Given the description of an element on the screen output the (x, y) to click on. 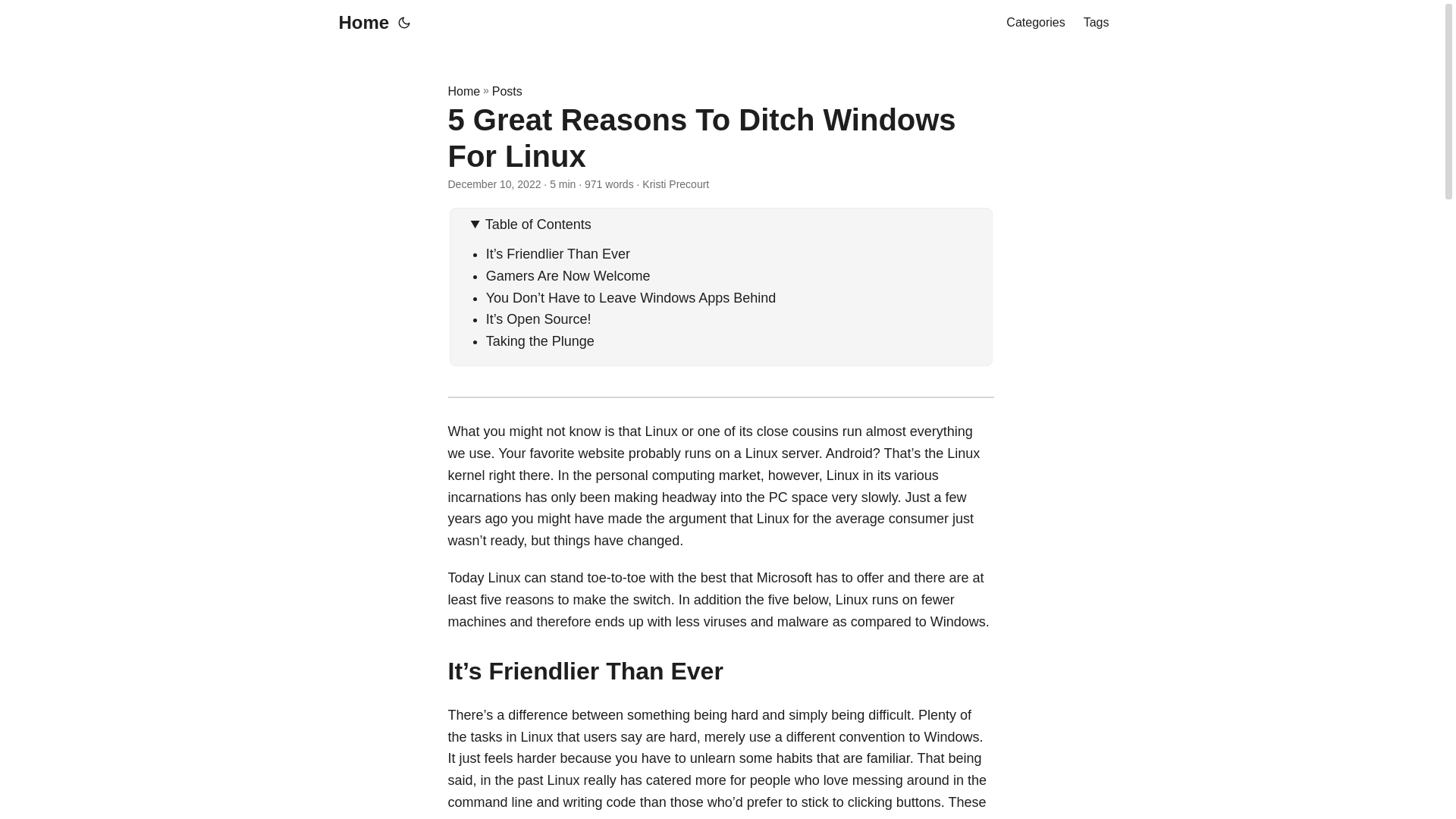
Categories (1035, 22)
Home (359, 22)
Home (463, 91)
Posts (507, 91)
Gamers Are Now Welcome (568, 275)
Categories (1035, 22)
Taking the Plunge (540, 340)
